Given the description of an element on the screen output the (x, y) to click on. 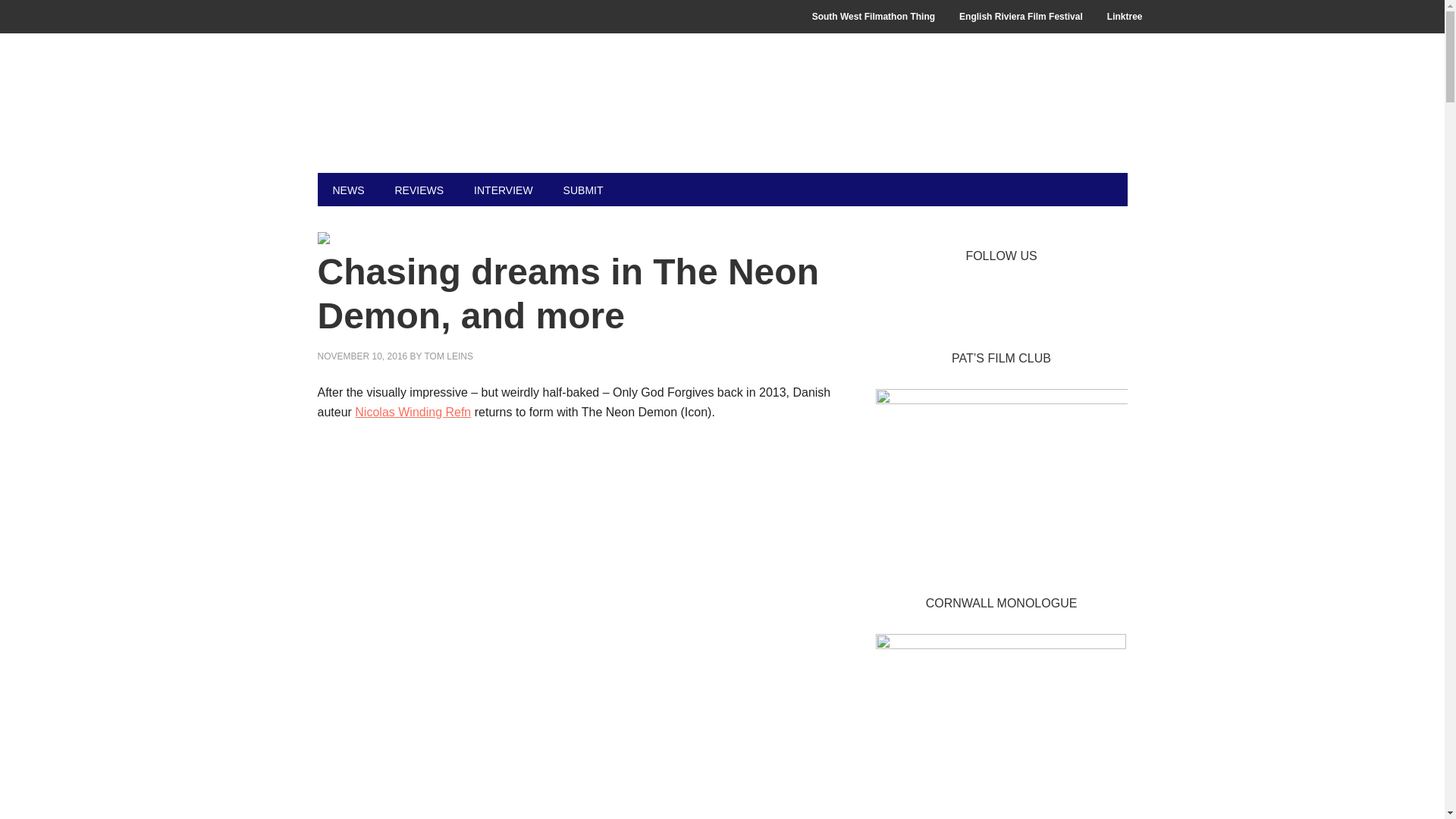
INTERVIEW (503, 189)
NEWS (347, 189)
REVIEWS (418, 189)
TOM LEINS (447, 356)
Linktree (1124, 16)
English Riviera Film Festival (1020, 16)
South West Filmathon Thing (873, 16)
SUBMIT (583, 189)
Nicolas Winding Refn (412, 411)
